Given the description of an element on the screen output the (x, y) to click on. 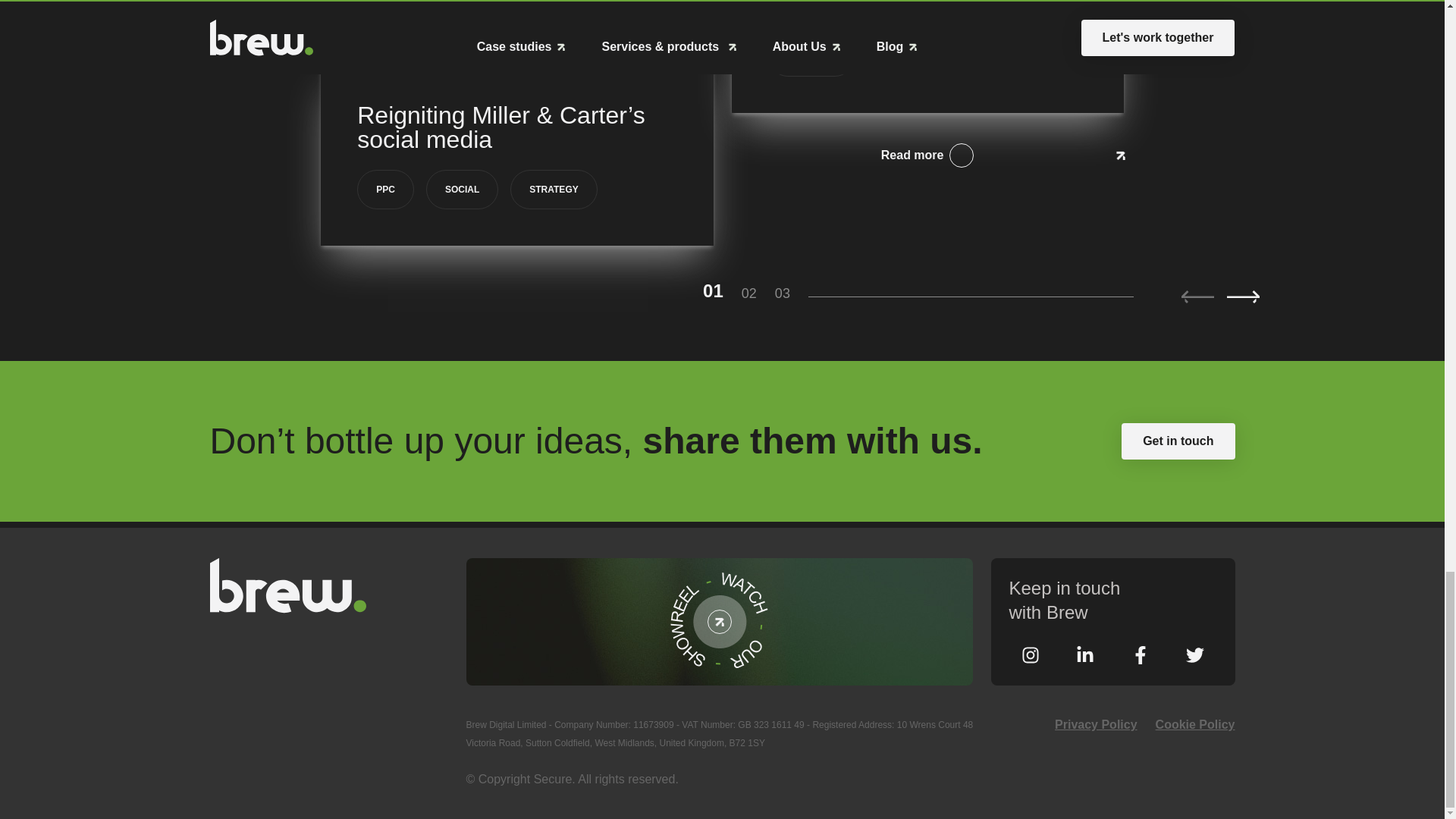
Read more (927, 155)
Prev (1197, 296)
Get in touch (1177, 441)
Next (1243, 296)
2 (757, 293)
3 (791, 293)
